Given the description of an element on the screen output the (x, y) to click on. 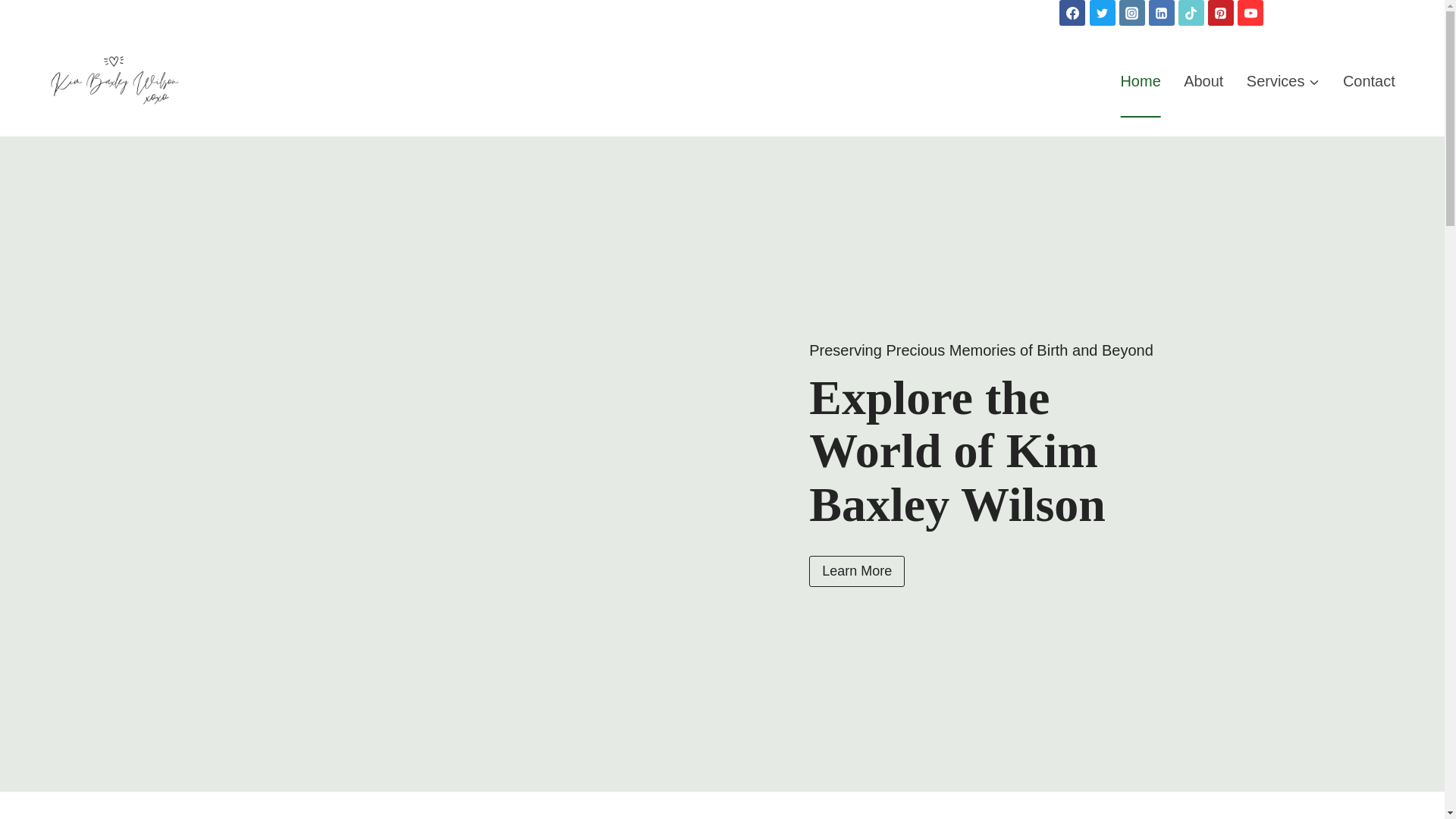
Services (1283, 81)
Learn More (856, 571)
Contact (1369, 81)
